Given the description of an element on the screen output the (x, y) to click on. 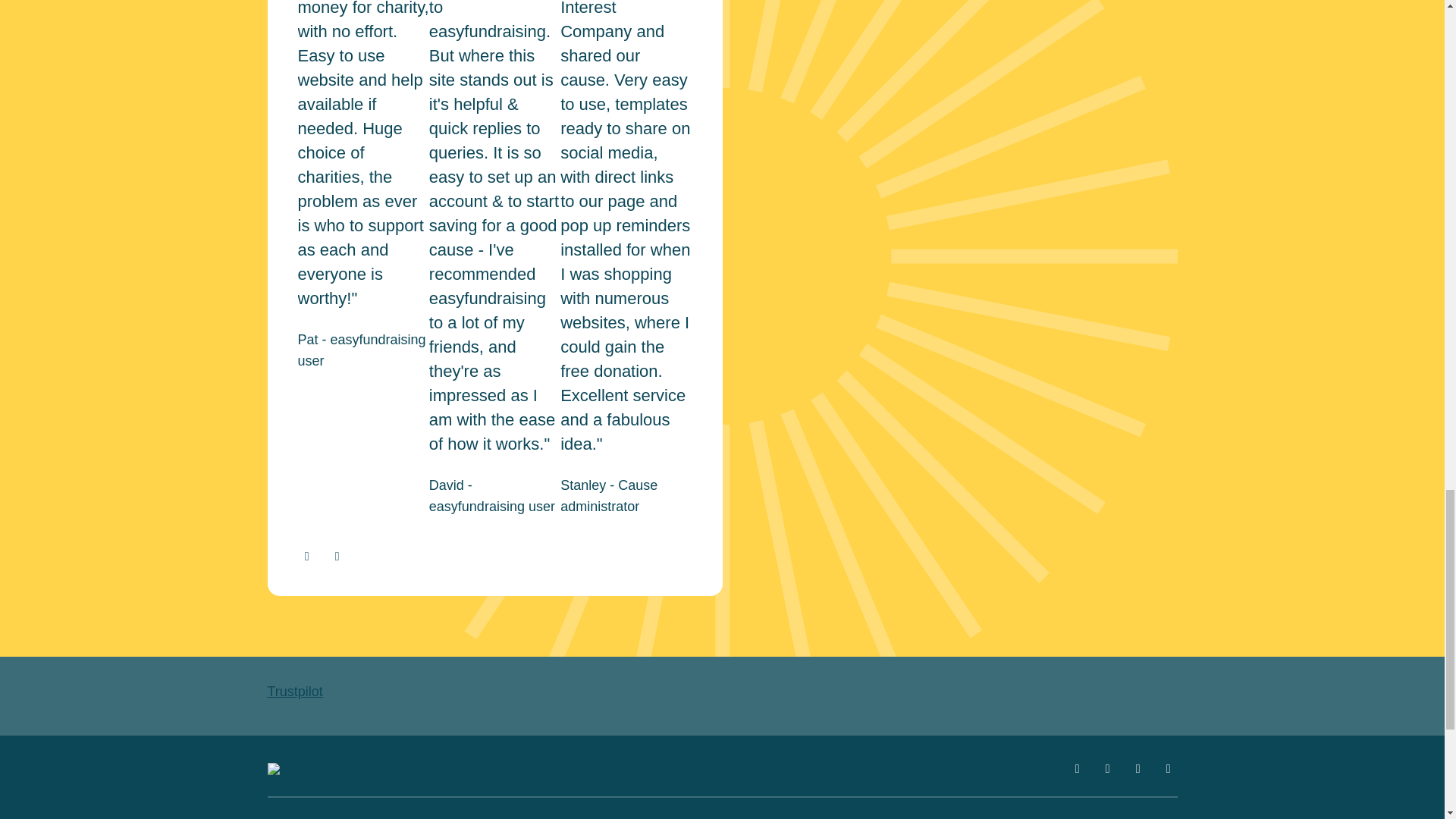
Policies (769, 817)
Resources (562, 817)
About (976, 817)
Trustpilot (293, 691)
Get donations (355, 817)
